Given the description of an element on the screen output the (x, y) to click on. 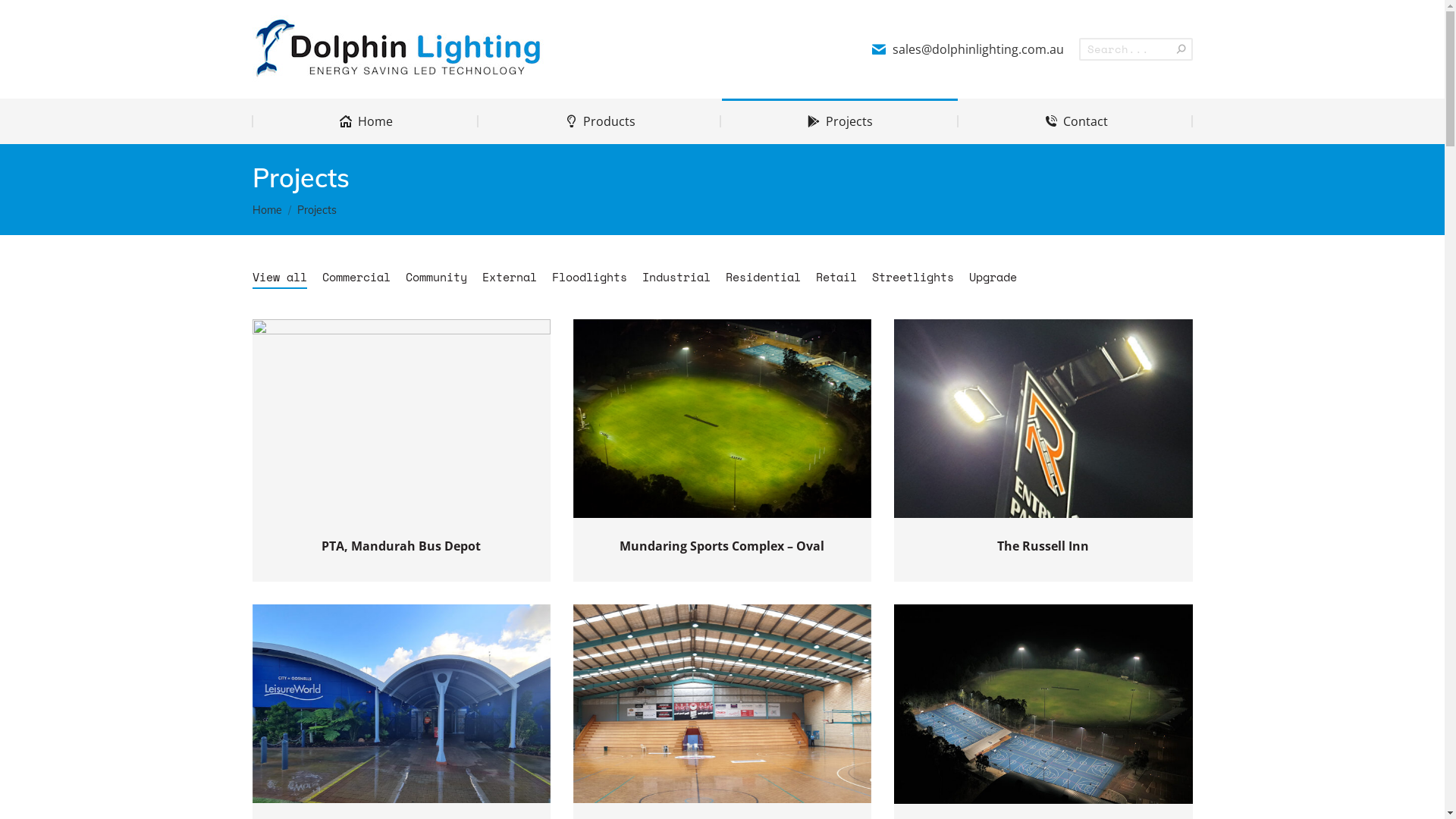
Home Element type: text (266, 209)
Search form Element type: hover (1135, 48)
Products Element type: text (599, 121)
Projects Element type: text (839, 121)
Mundaring Sports Complex oval 1 Element type: hover (722, 418)
Residential Element type: text (762, 276)
sales@dolphinlighting.com.au Element type: text (966, 48)
Contact Element type: text (1075, 121)
Gosnells Leisure World Element type: hover (400, 703)
View all Element type: text (278, 276)
Community Element type: text (435, 276)
Retail Element type: text (835, 276)
The Russell Inn Element type: text (1042, 545)
Home Element type: text (364, 121)
Upgrade Element type: text (992, 276)
Floodlights Element type: text (589, 276)
Commercial Element type: text (355, 276)
Industrial Element type: text (675, 276)
PTA, Mandurah Bus Depot Element type: text (400, 545)
External Element type: text (509, 276)
PTA, Mandurah Bus Depot 3 Element type: hover (400, 418)
Go! Element type: text (24, 17)
Mundaring Sports Complex Element type: hover (1043, 703)
Streetlights Element type: text (912, 276)
Belmont Oasis slider Element type: hover (722, 703)
The Russell Inn 4 Element type: hover (1043, 418)
